Given the description of an element on the screen output the (x, y) to click on. 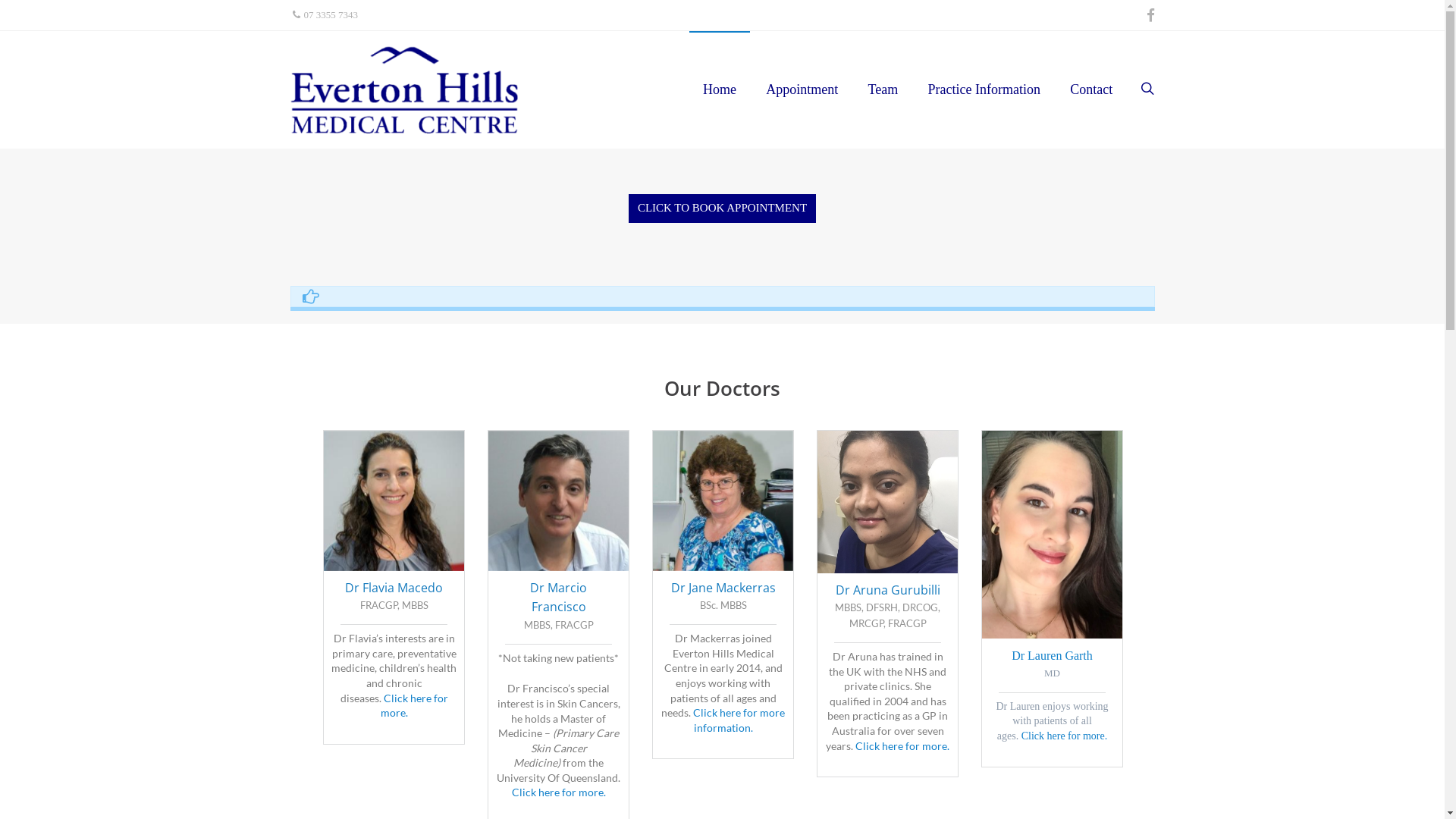
Click here for more information. Element type: text (737, 720)
Everton Hills Medical Centre Element type: hover (433, 89)
Click here for more. Element type: text (558, 791)
Click here for more. Element type: text (902, 745)
Home Element type: text (719, 89)
Click here for more. Element type: text (1064, 735)
07 3355 7343 Element type: text (325, 14)
Practice Information Element type: text (984, 89)
Team Element type: text (883, 89)
Contact Element type: text (1091, 89)
Appointment Element type: text (801, 89)
Click here for more. Element type: text (414, 705)
CLICK TO BOOK APPOINTMENT Element type: text (721, 207)
